Given the description of an element on the screen output the (x, y) to click on. 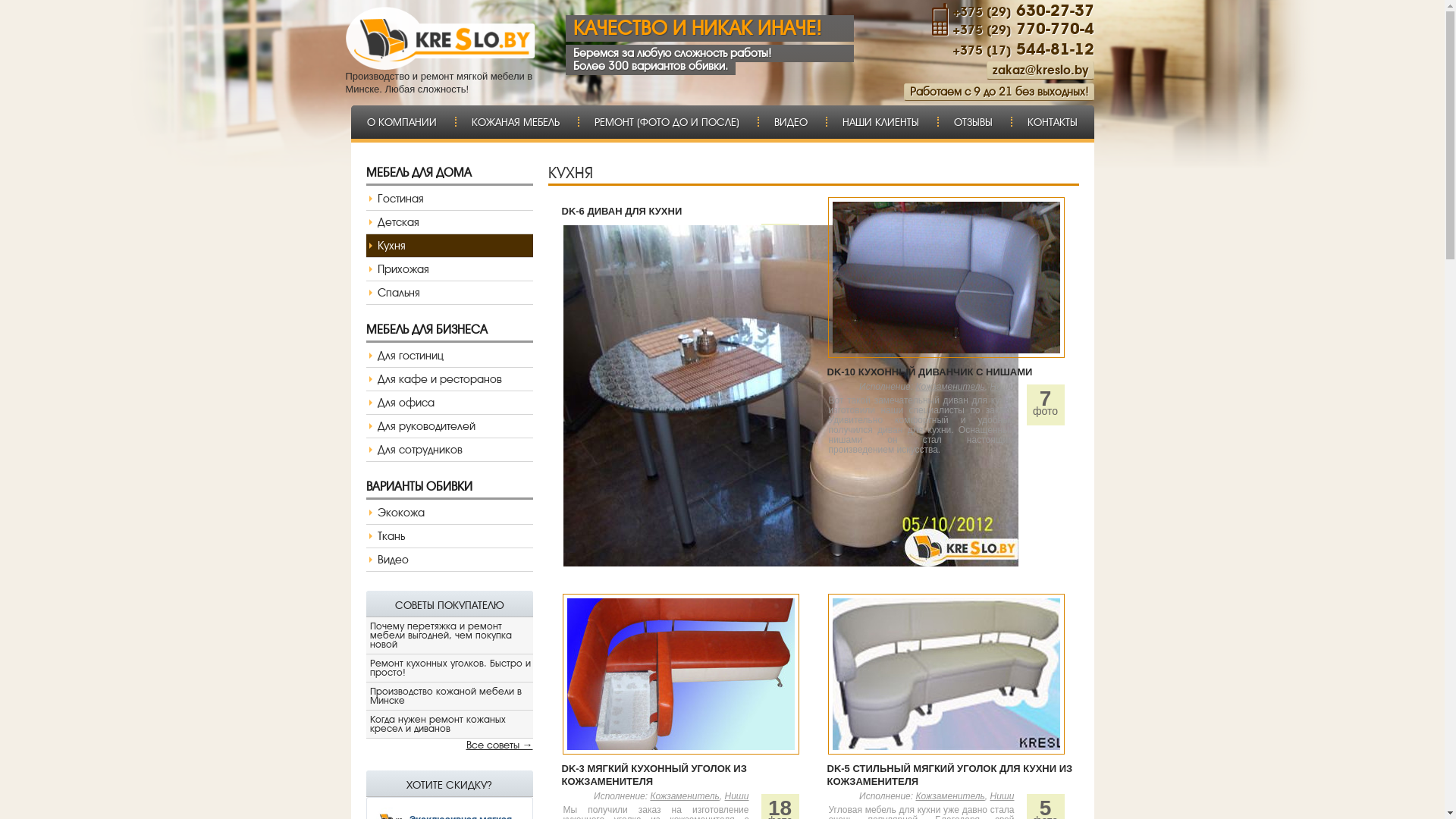
zakaz@kreslo.by Element type: text (1039, 69)
